Given the description of an element on the screen output the (x, y) to click on. 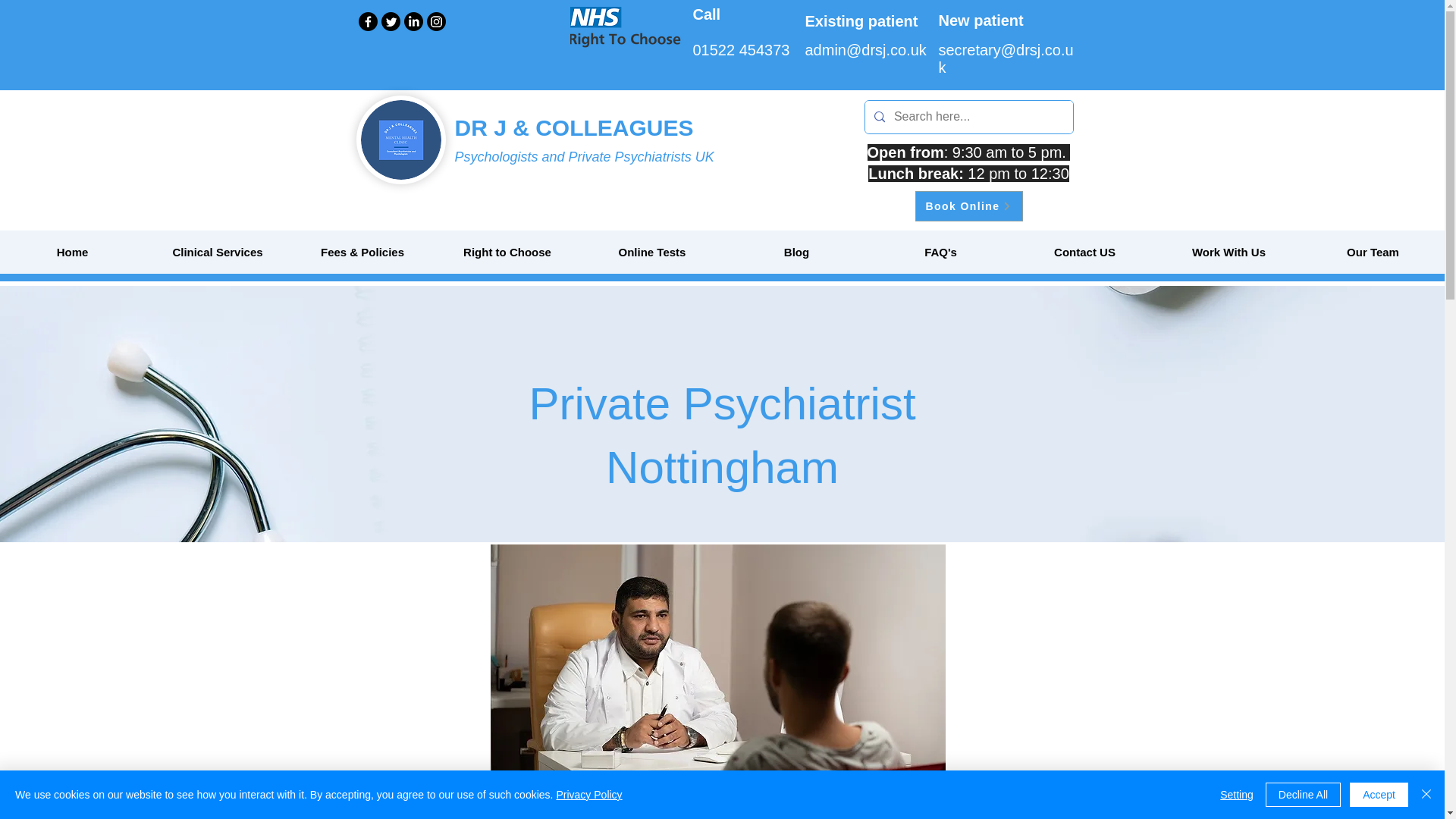
Blog (795, 251)
NHS right to choose logo (631, 27)
Work With Us (1228, 251)
Right to Choose (506, 251)
Online Tests (651, 251)
Contact US (1083, 251)
FAQ's (939, 251)
Home (72, 251)
Book Online (968, 205)
